Given the description of an element on the screen output the (x, y) to click on. 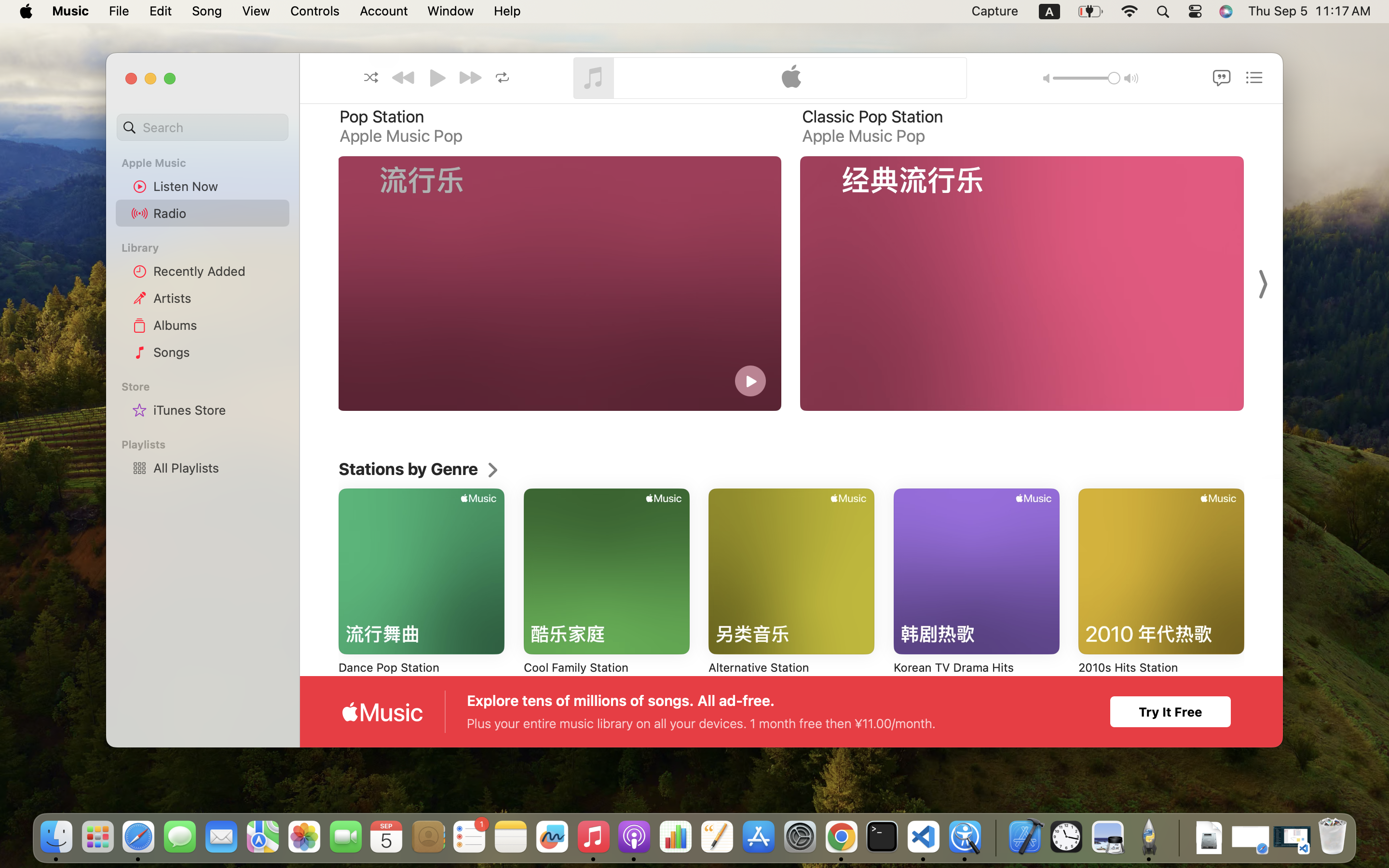
Listen Now Element type: AXStaticText (217, 185)
Songs Element type: AXStaticText (217, 351)
